Given the description of an element on the screen output the (x, y) to click on. 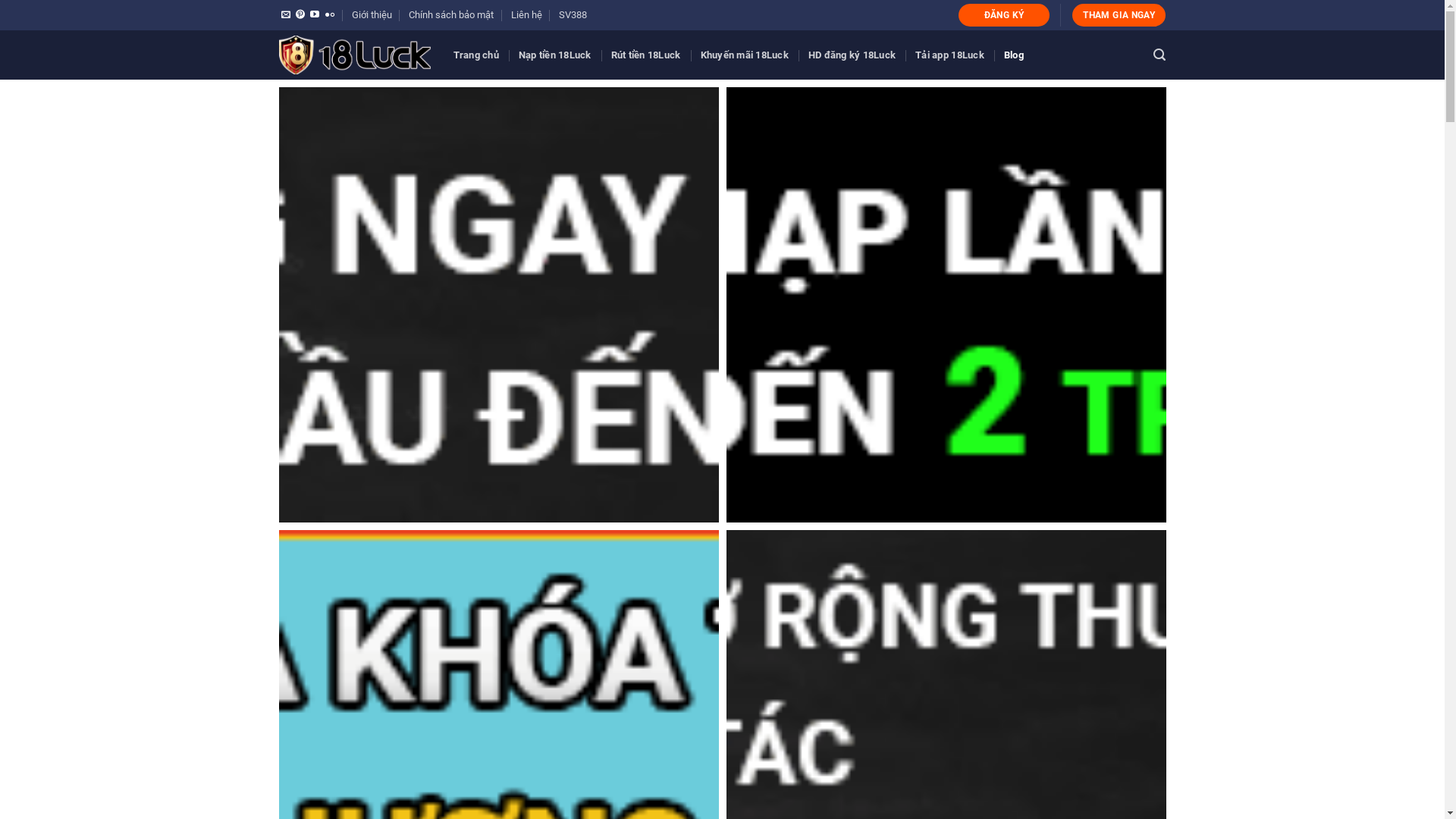
Mot88 Element type: hover (946, 304)
d9bet Element type: hover (498, 304)
SV388 Element type: text (572, 14)
Blog Element type: text (1013, 54)
THAM GIA NGAY Element type: text (1118, 14)
